Given the description of an element on the screen output the (x, y) to click on. 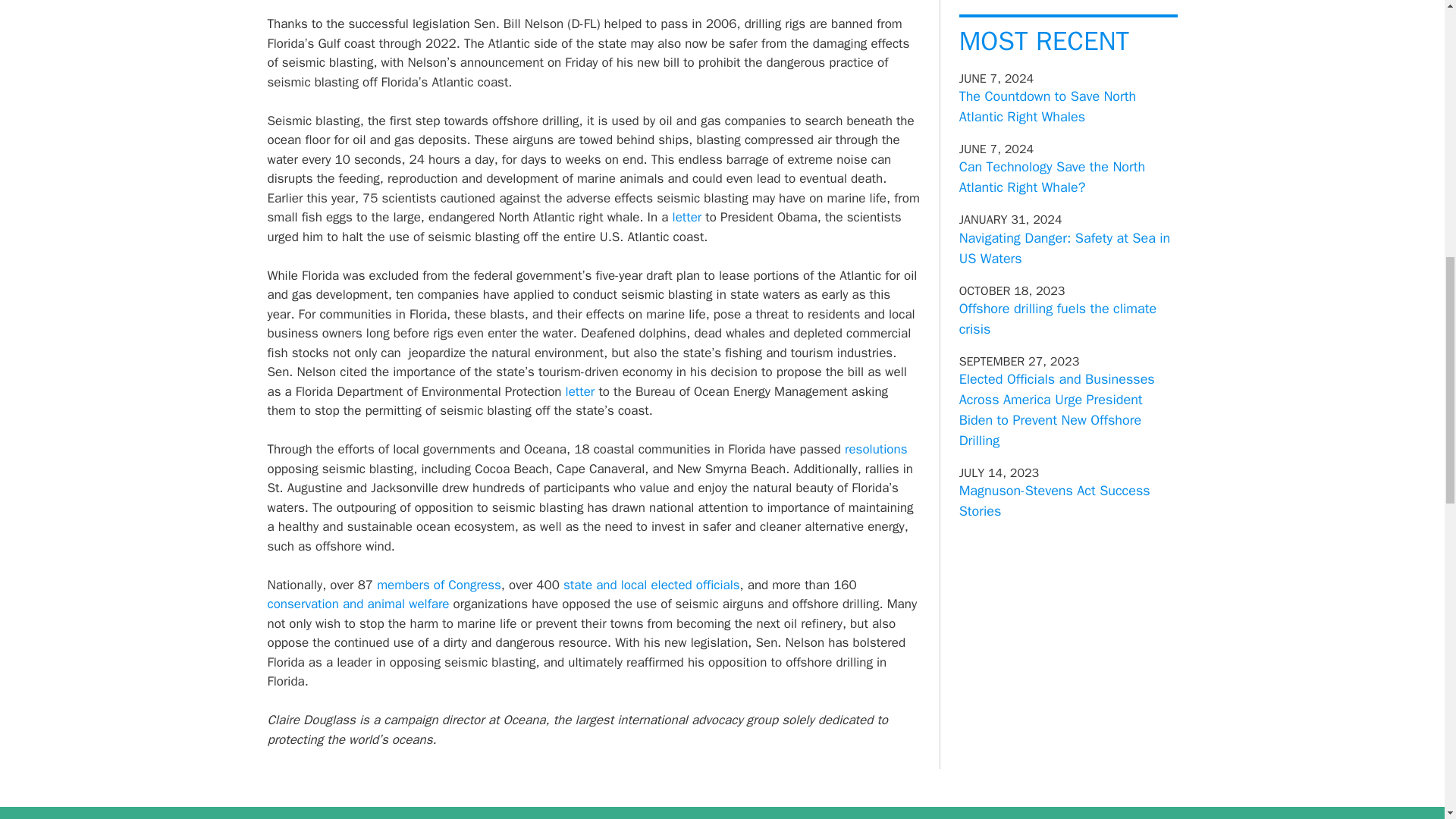
letter (580, 391)
members of Congress (438, 584)
conservation and animal welfare (357, 603)
The Countdown to Save North Atlantic Right Whales (1048, 106)
Navigating Danger: Safety at Sea in US Waters  (1064, 248)
Can Technology Save the North Atlantic Right Whale? (1052, 176)
state and local elected officials (651, 584)
resolutions (875, 449)
letter (686, 217)
Scroll back to top (1406, 720)
